Given the description of an element on the screen output the (x, y) to click on. 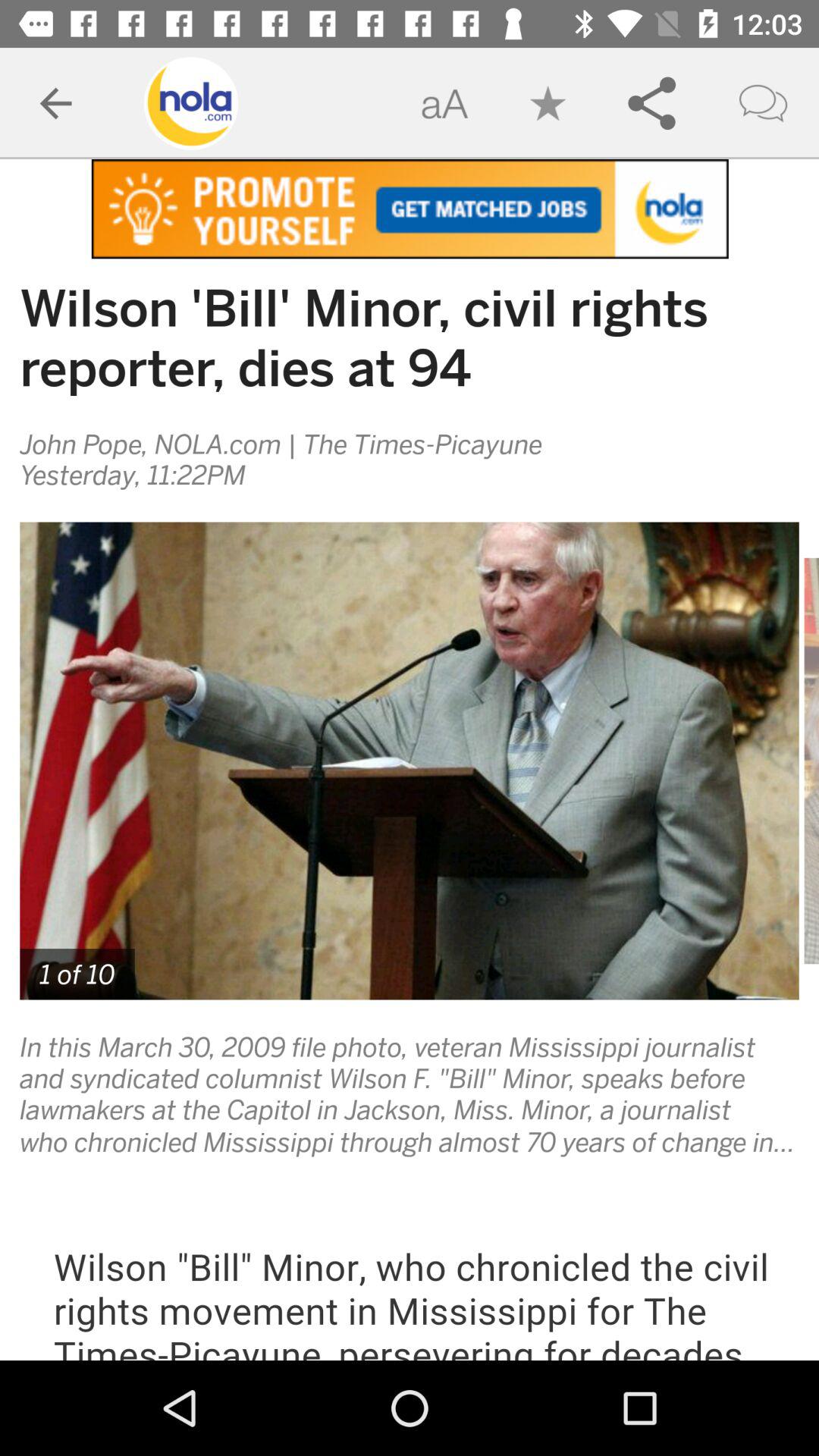
select the image (409, 761)
